Given the description of an element on the screen output the (x, y) to click on. 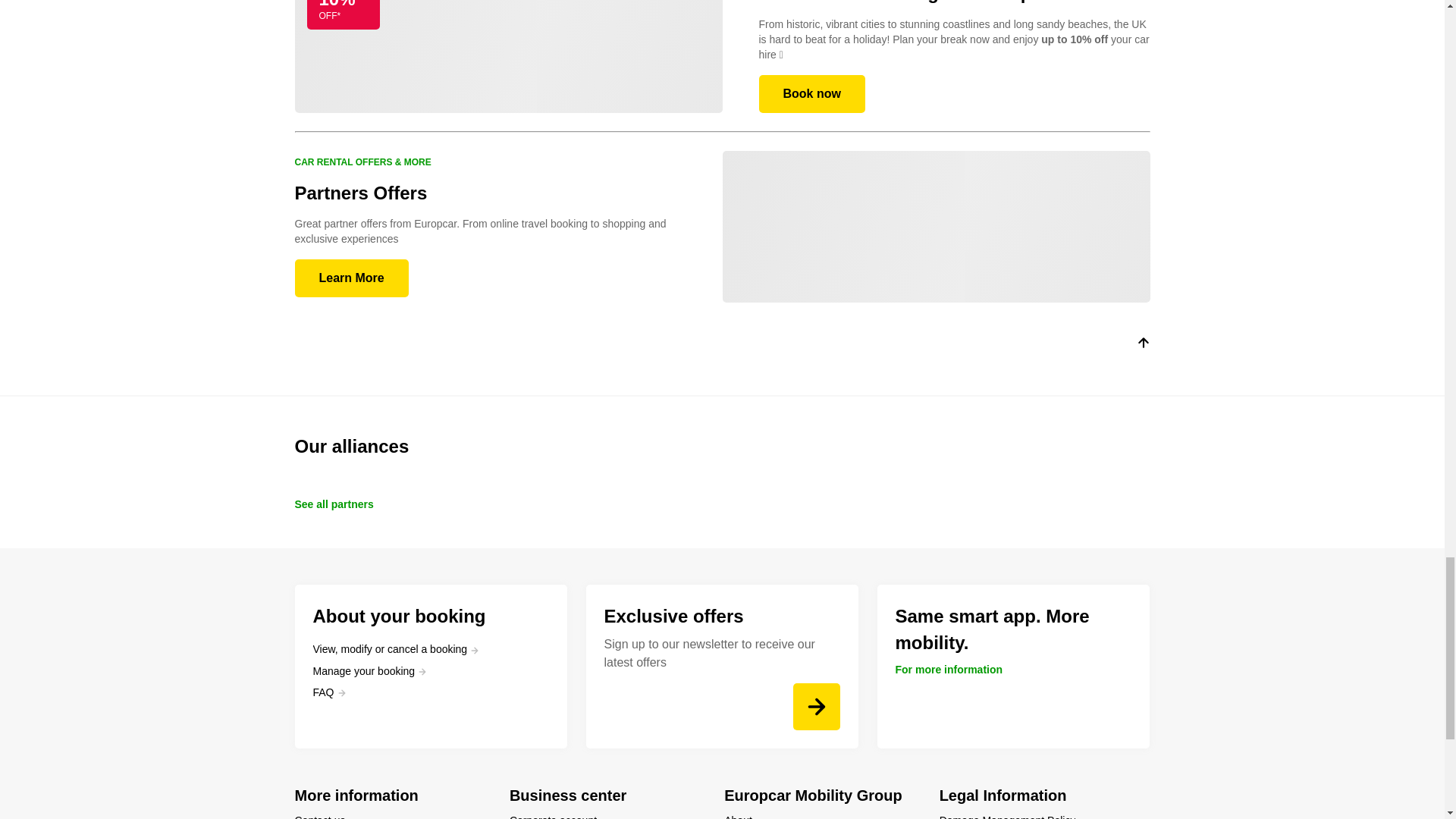
Our alliances (722, 446)
FAQ (329, 692)
top (1142, 345)
View, modify or cancel a booking (396, 648)
Book now (811, 94)
See all partners (333, 503)
For more information (949, 669)
More information (392, 795)
Learn More (350, 278)
Manage your booking (369, 670)
